Given the description of an element on the screen output the (x, y) to click on. 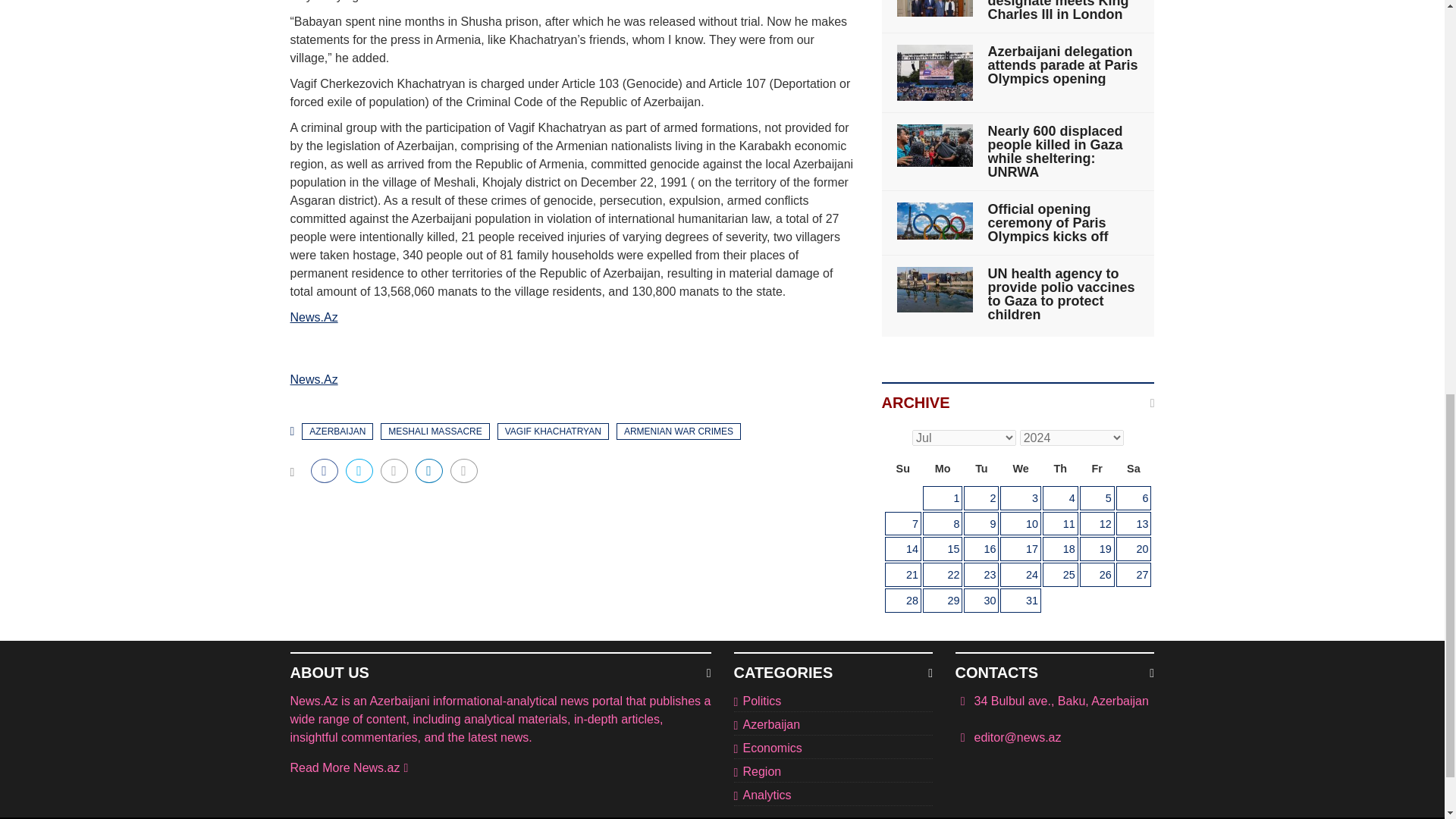
ARMENIAN WAR CRIMES (678, 431)
News.Az (313, 317)
Share news on Facebook (324, 470)
VAGIF KHACHATRYAN (552, 431)
MESHALI MASSACRE (434, 431)
News.Az (313, 379)
Share news on Twitter (359, 470)
AZERBAIJAN (336, 431)
